Given the description of an element on the screen output the (x, y) to click on. 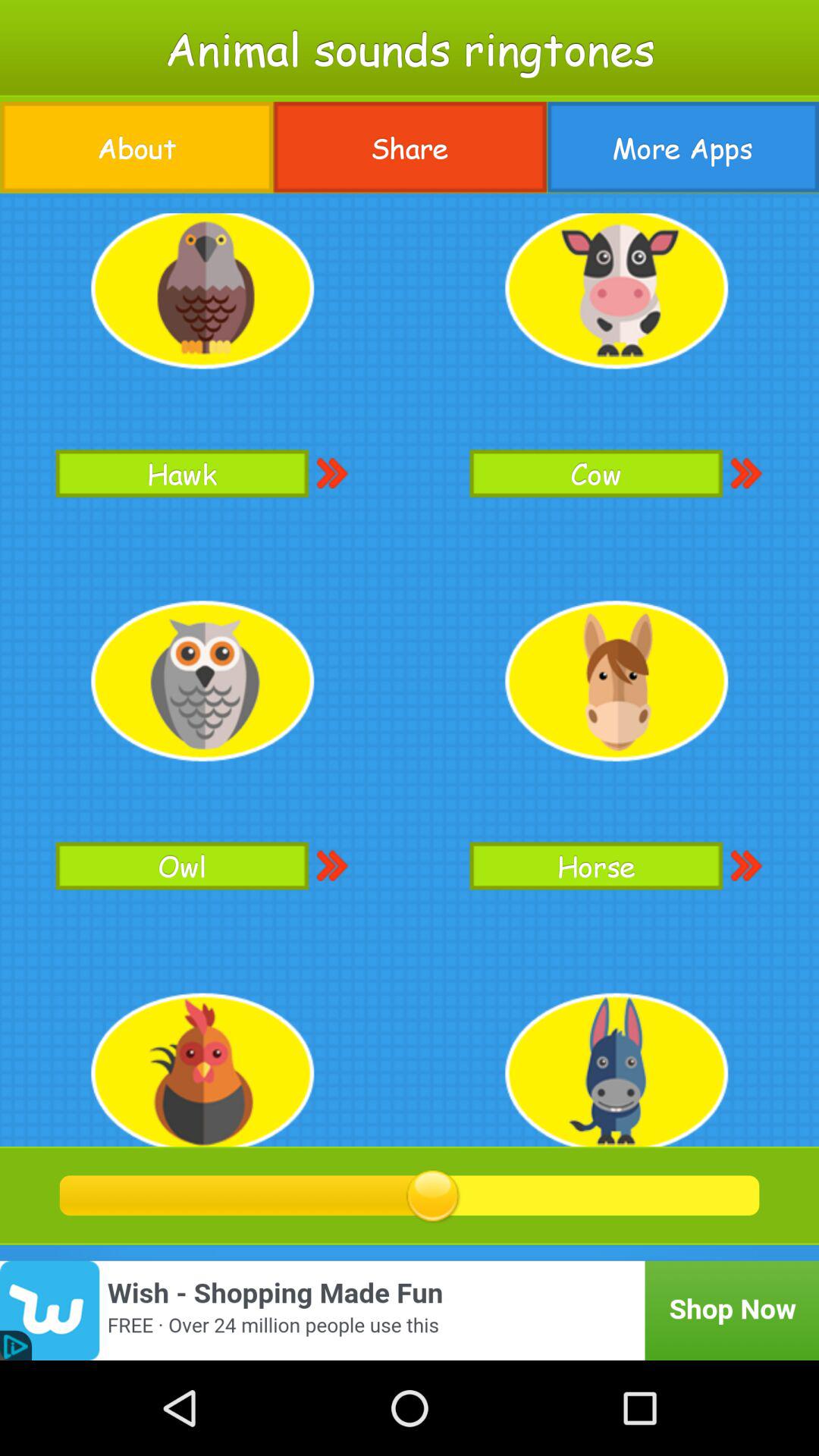
launch the share item (409, 147)
